Given the description of an element on the screen output the (x, y) to click on. 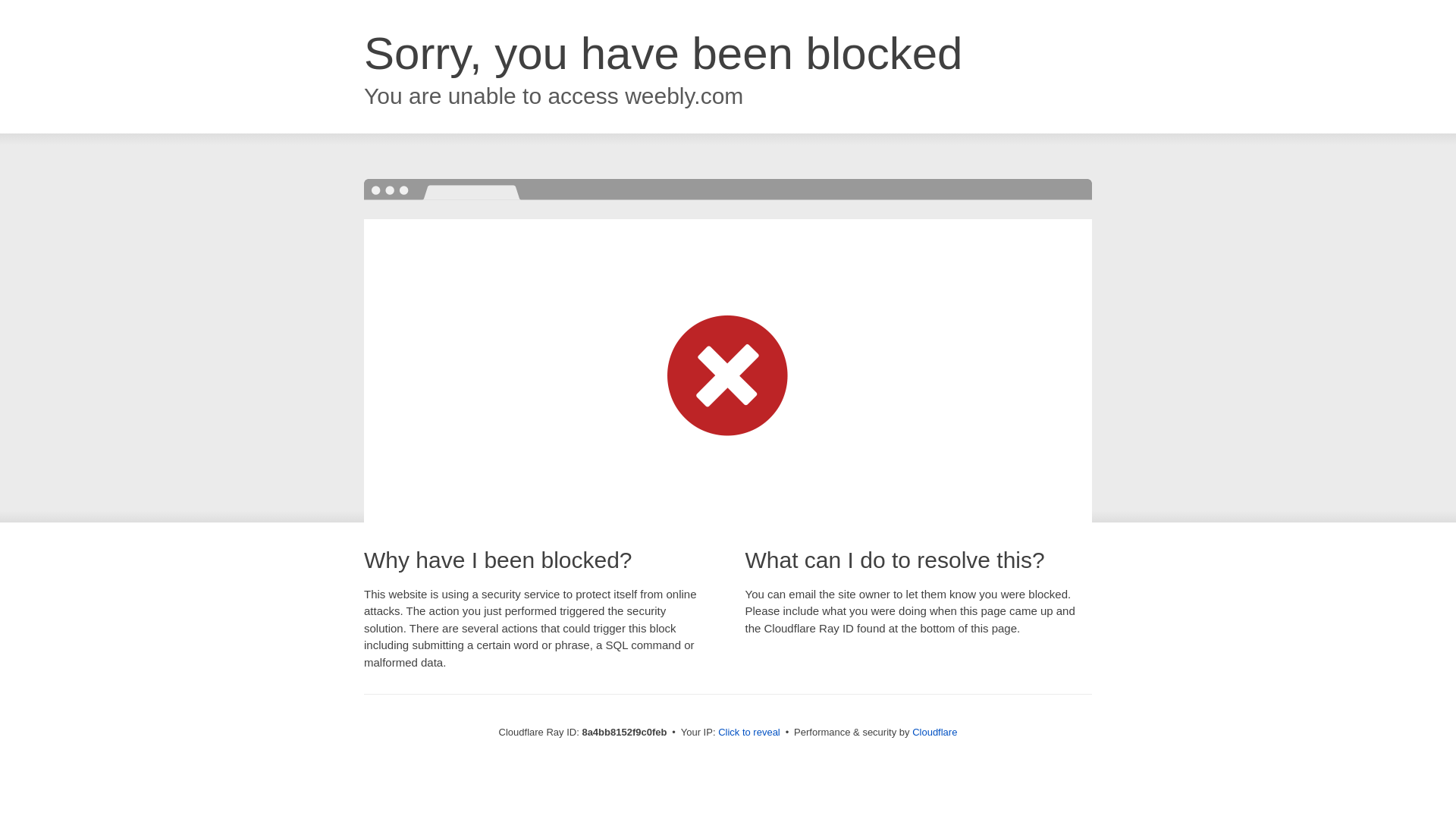
Cloudflare (934, 731)
Click to reveal (748, 732)
